Given the description of an element on the screen output the (x, y) to click on. 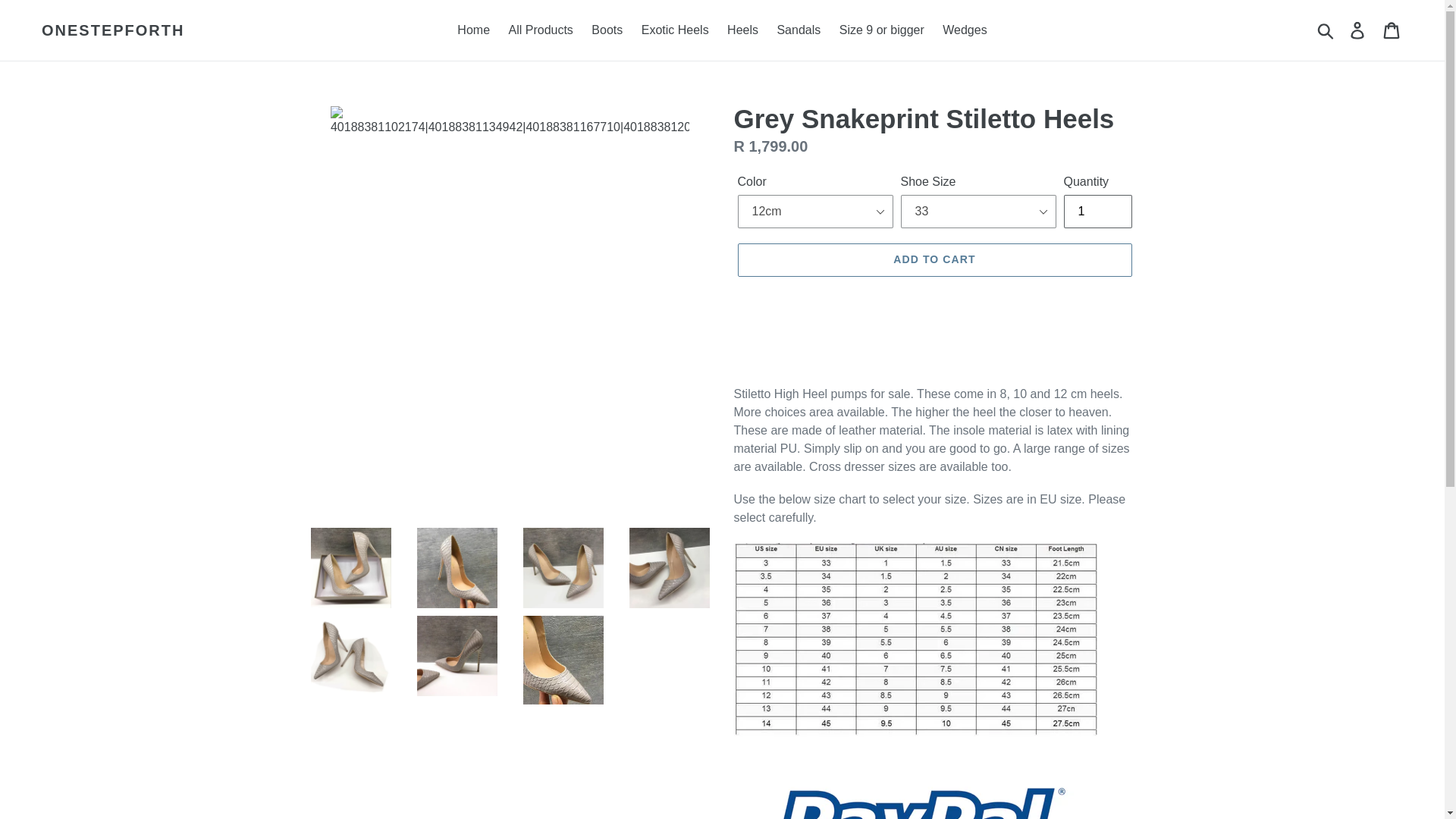
Heels (742, 29)
Boots (606, 29)
Log in (1357, 29)
Exotic Heels (674, 29)
ONESTEPFORTH (113, 30)
All Products (539, 29)
Size 9 or bigger (881, 29)
Cart (1392, 29)
Sandals (798, 29)
Wedges (964, 29)
